Given the description of an element on the screen output the (x, y) to click on. 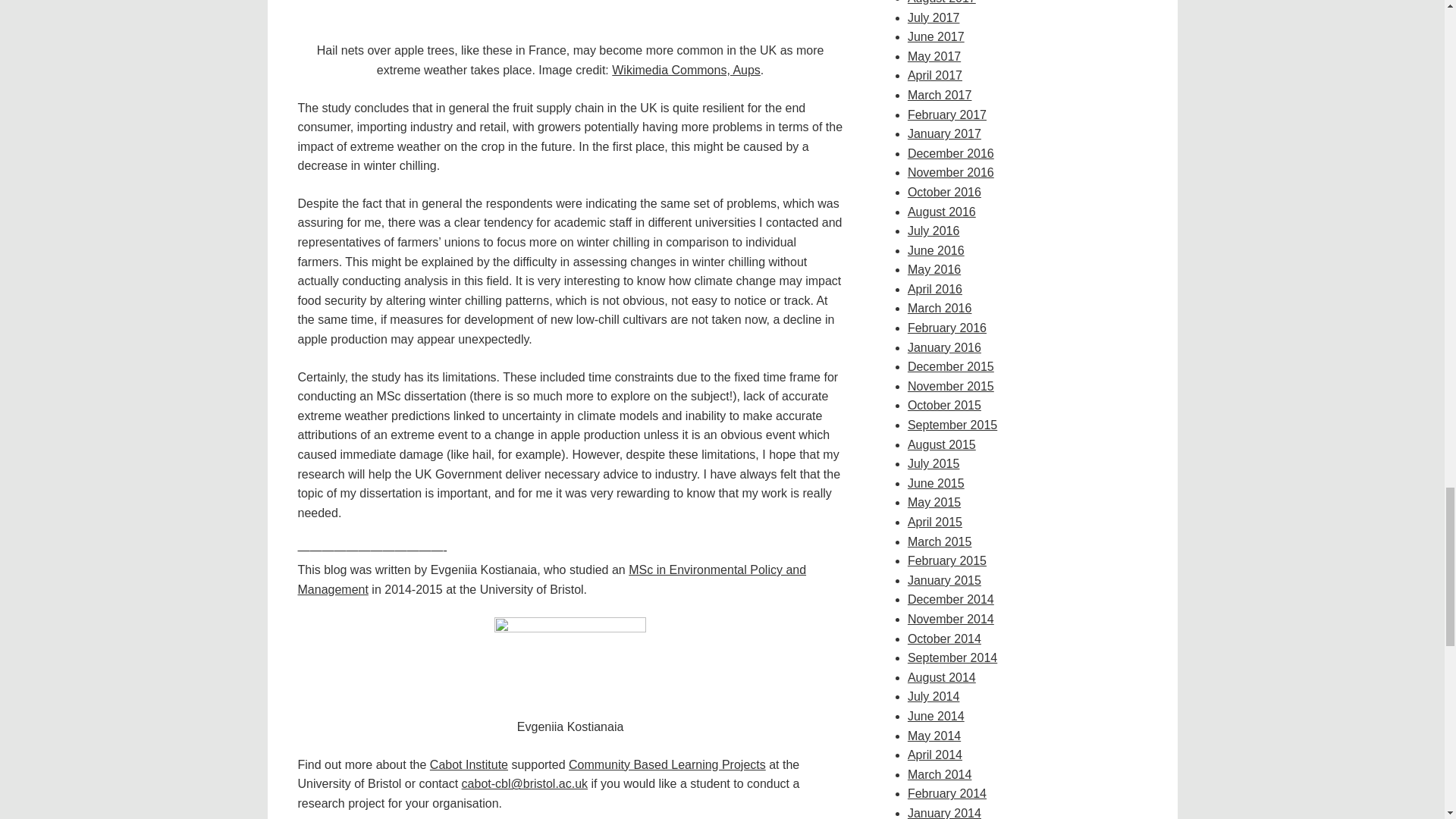
Cabot Institute (468, 764)
Wikimedia Commons, Aups (685, 69)
Community Based Learning Projects (667, 764)
MSc in Environmental Policy and Management (551, 579)
